Given the description of an element on the screen output the (x, y) to click on. 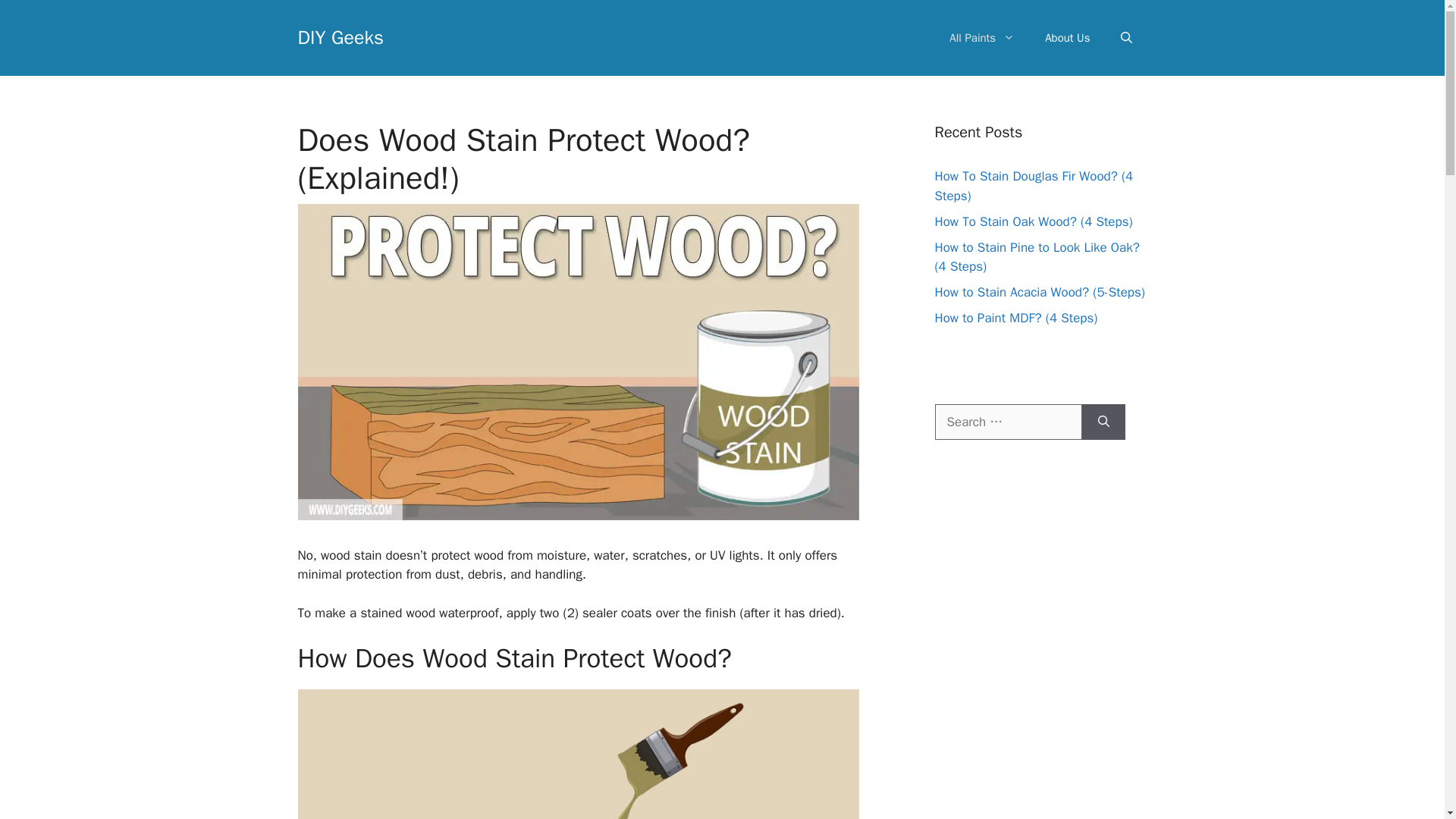
About Us (1067, 37)
DIY Geeks (339, 37)
All Paints (981, 37)
Search for: (1007, 421)
